Given the description of an element on the screen output the (x, y) to click on. 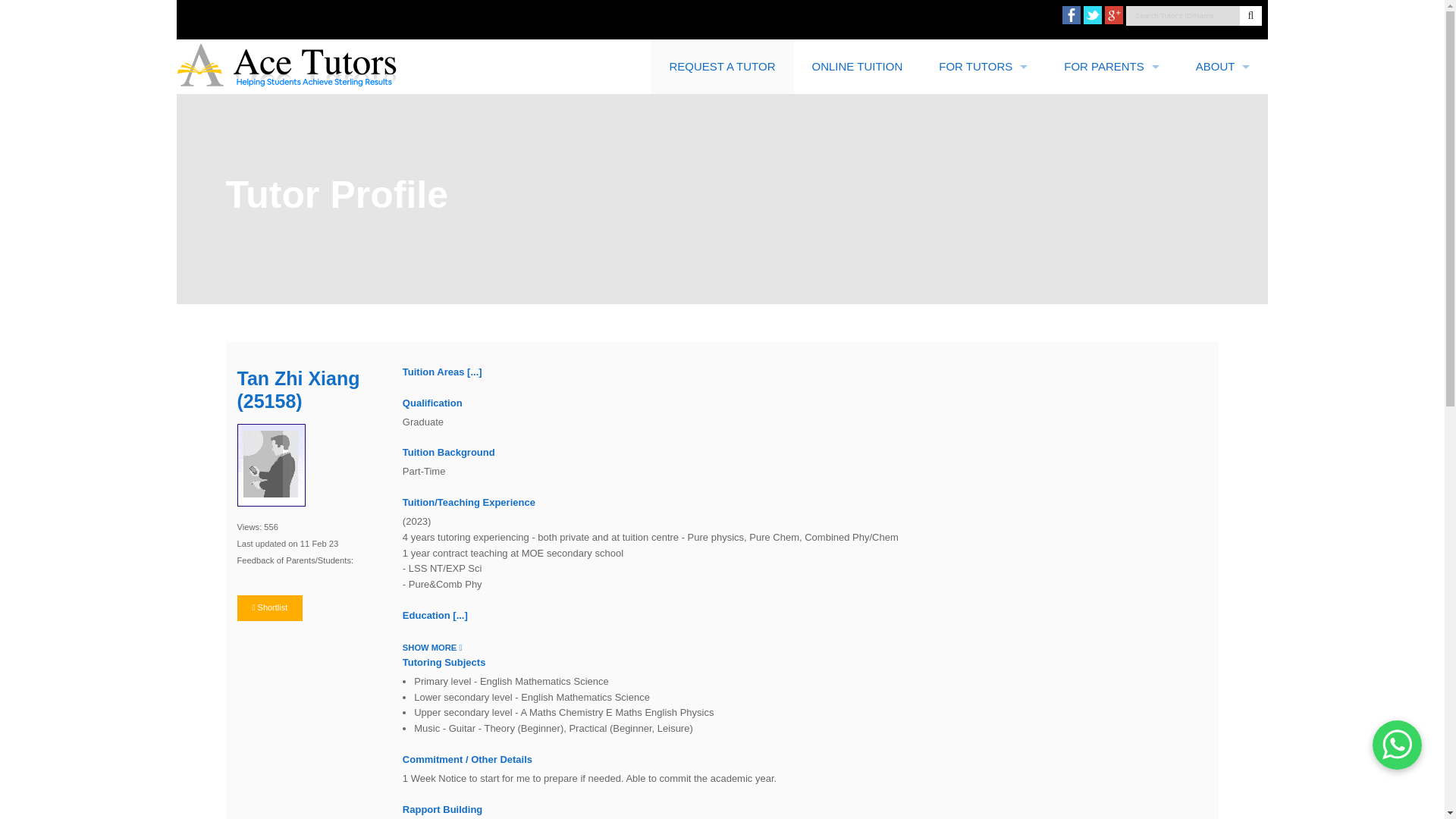
SHOW MORE (433, 646)
Tutor Login (982, 121)
Contact Us (1222, 175)
About Us (1222, 121)
Read More (474, 371)
FAQs (1222, 393)
ONLINE TUITION (857, 66)
Shortlist (268, 607)
Referrals (1222, 339)
Find a Music Teacher (1111, 175)
REQUEST A TUTOR (721, 66)
Testimonials (1222, 284)
Register As A Tutor (982, 175)
Find A Tutor (1111, 121)
Read More (459, 614)
